Given the description of an element on the screen output the (x, y) to click on. 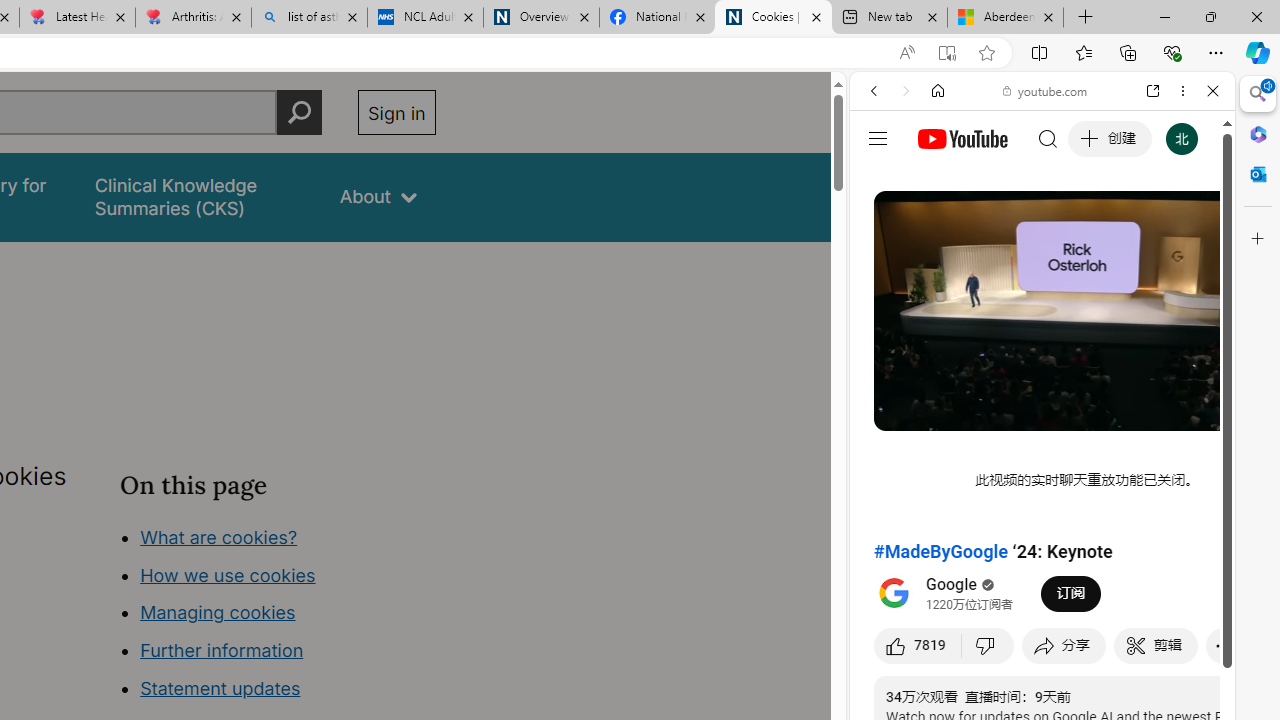
Further information (221, 650)
Music (1042, 543)
Arthritis: Ask Health Professionals (192, 17)
Class: in-page-nav__list (277, 615)
